Given the description of an element on the screen output the (x, y) to click on. 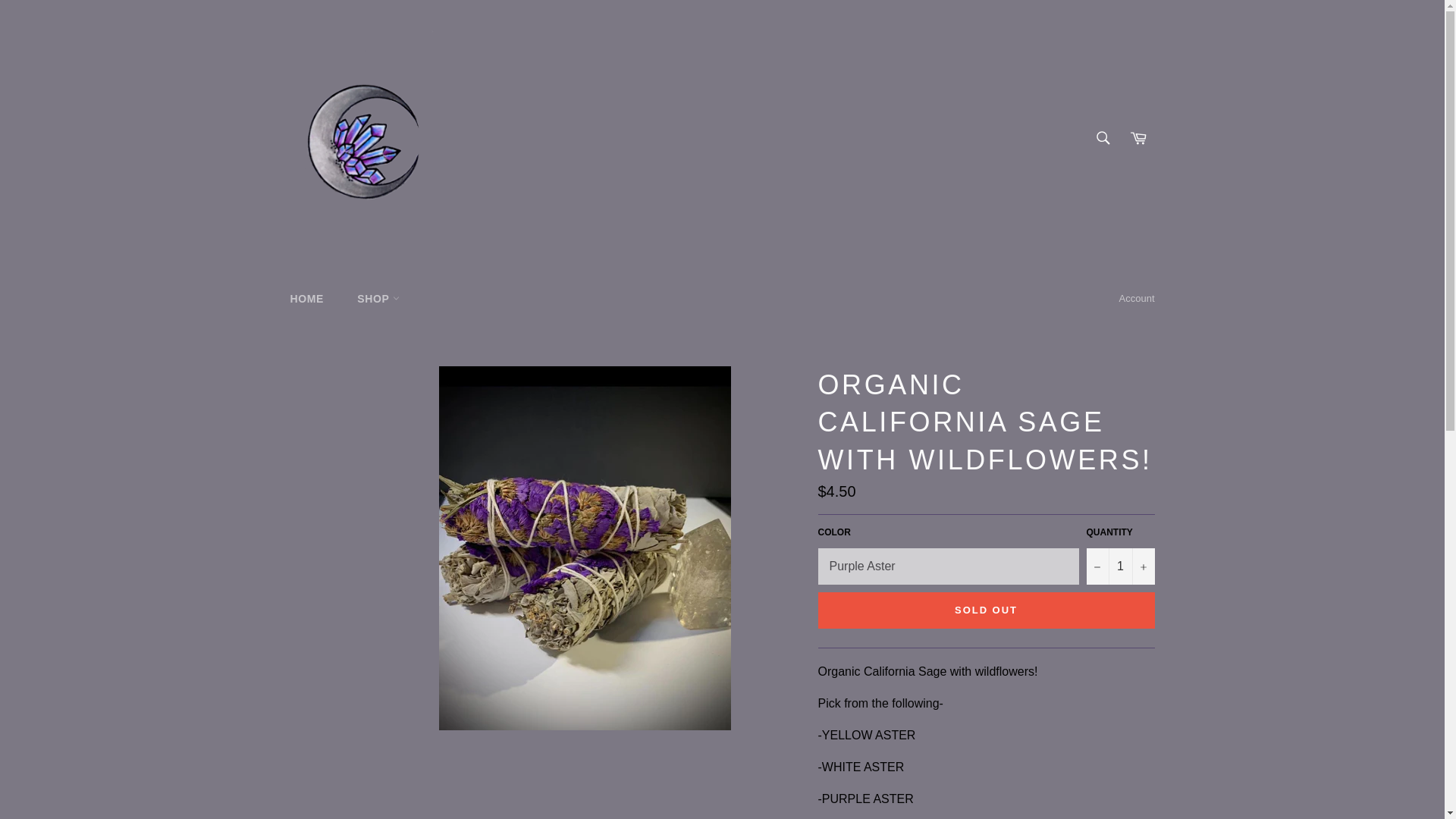
Account (1136, 298)
1 (1120, 565)
HOME (306, 298)
Search (1103, 137)
Cart (1138, 137)
SHOP (377, 298)
